Given the description of an element on the screen output the (x, y) to click on. 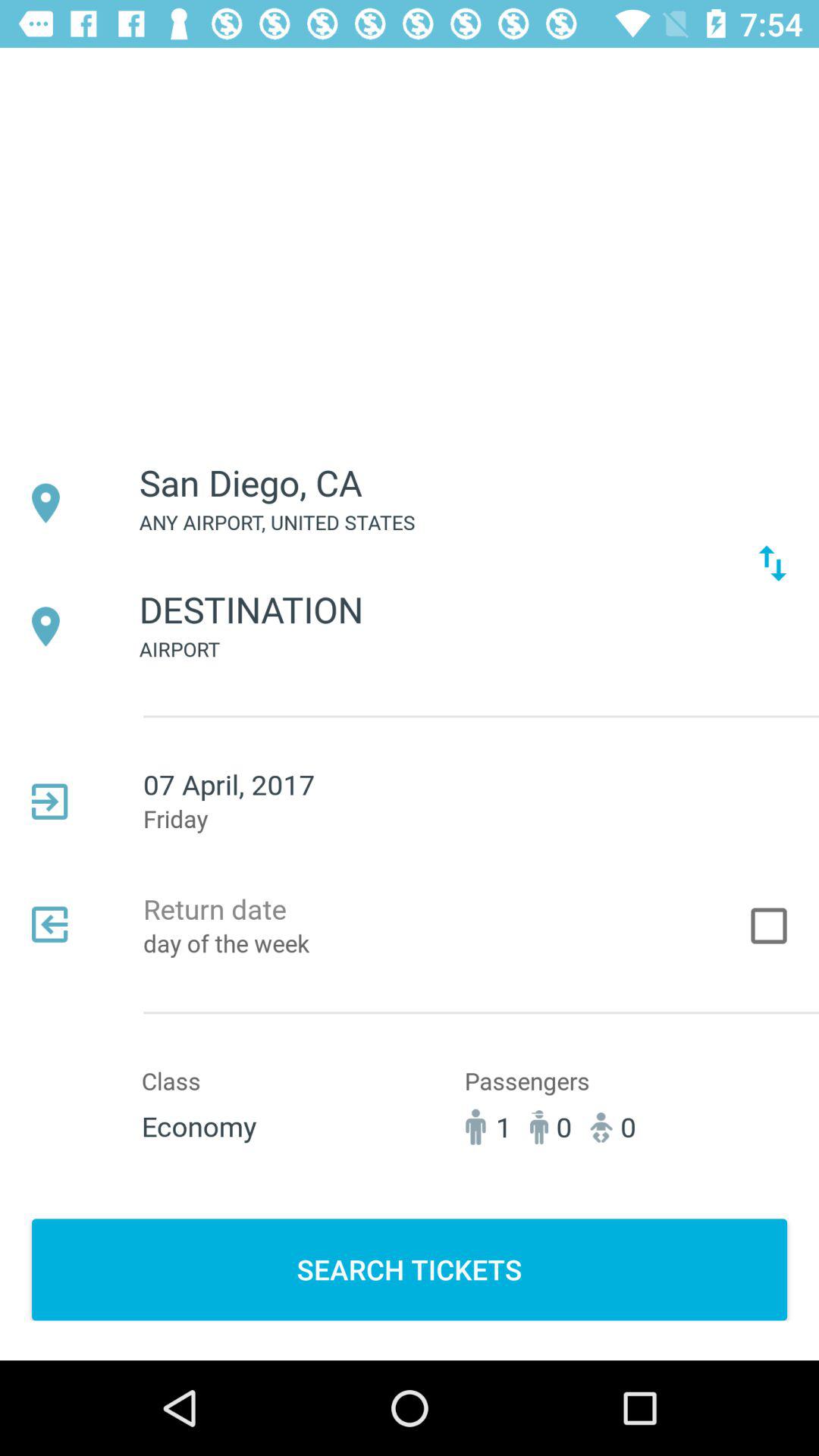
turn on the search tickets button (409, 1269)
